Given the description of an element on the screen output the (x, y) to click on. 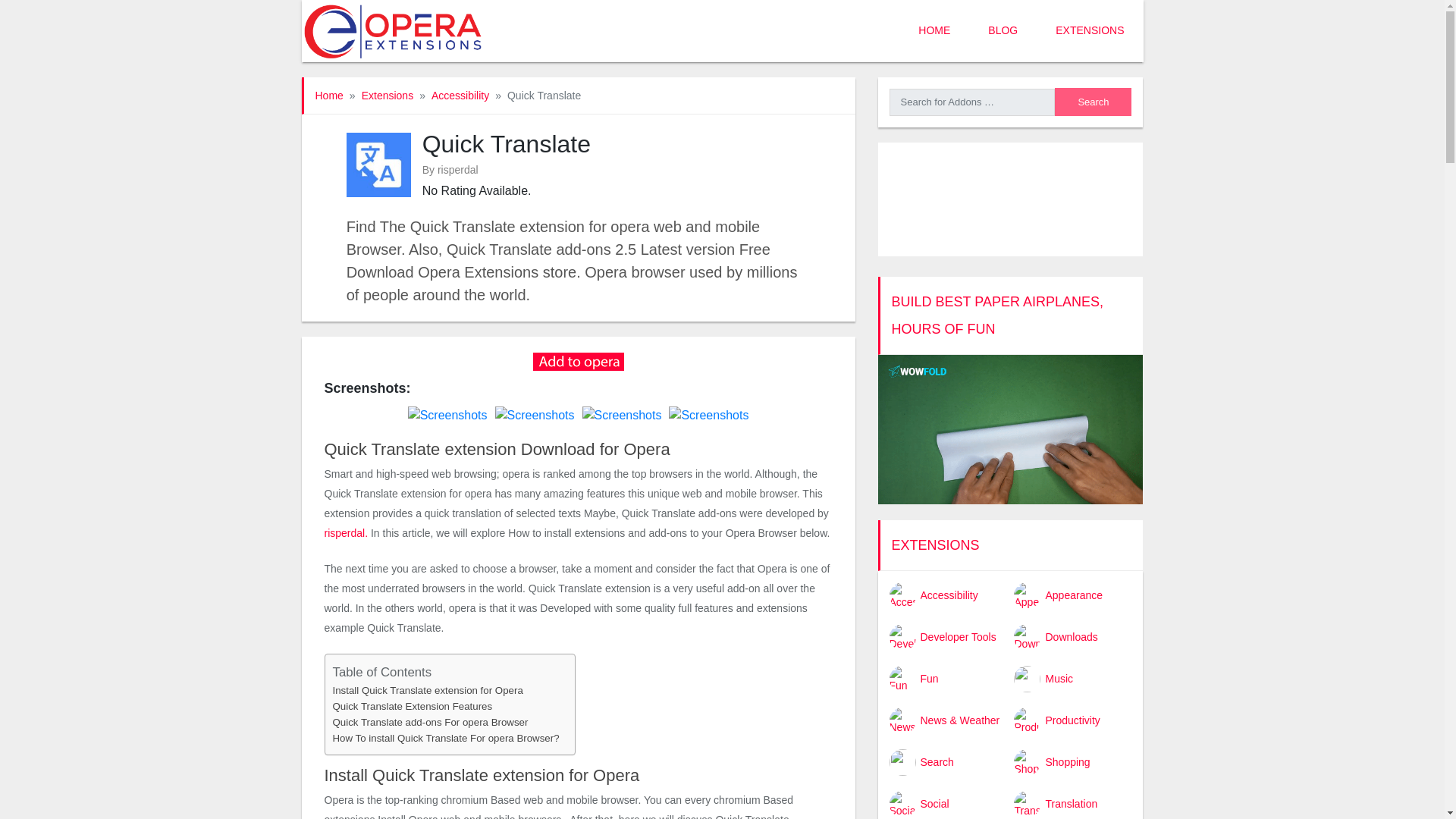
Search (1092, 101)
Install Quick Translate extension for Opera (426, 690)
How To install Quick Translate For opera Browser? (445, 738)
Accessibility (459, 95)
Install Quick Translate extension for Opera (426, 690)
Quick Translate Extension Features (411, 706)
Quick Translate - Download (577, 359)
HOME (934, 31)
Home (329, 95)
Extensions (387, 95)
